Given the description of an element on the screen output the (x, y) to click on. 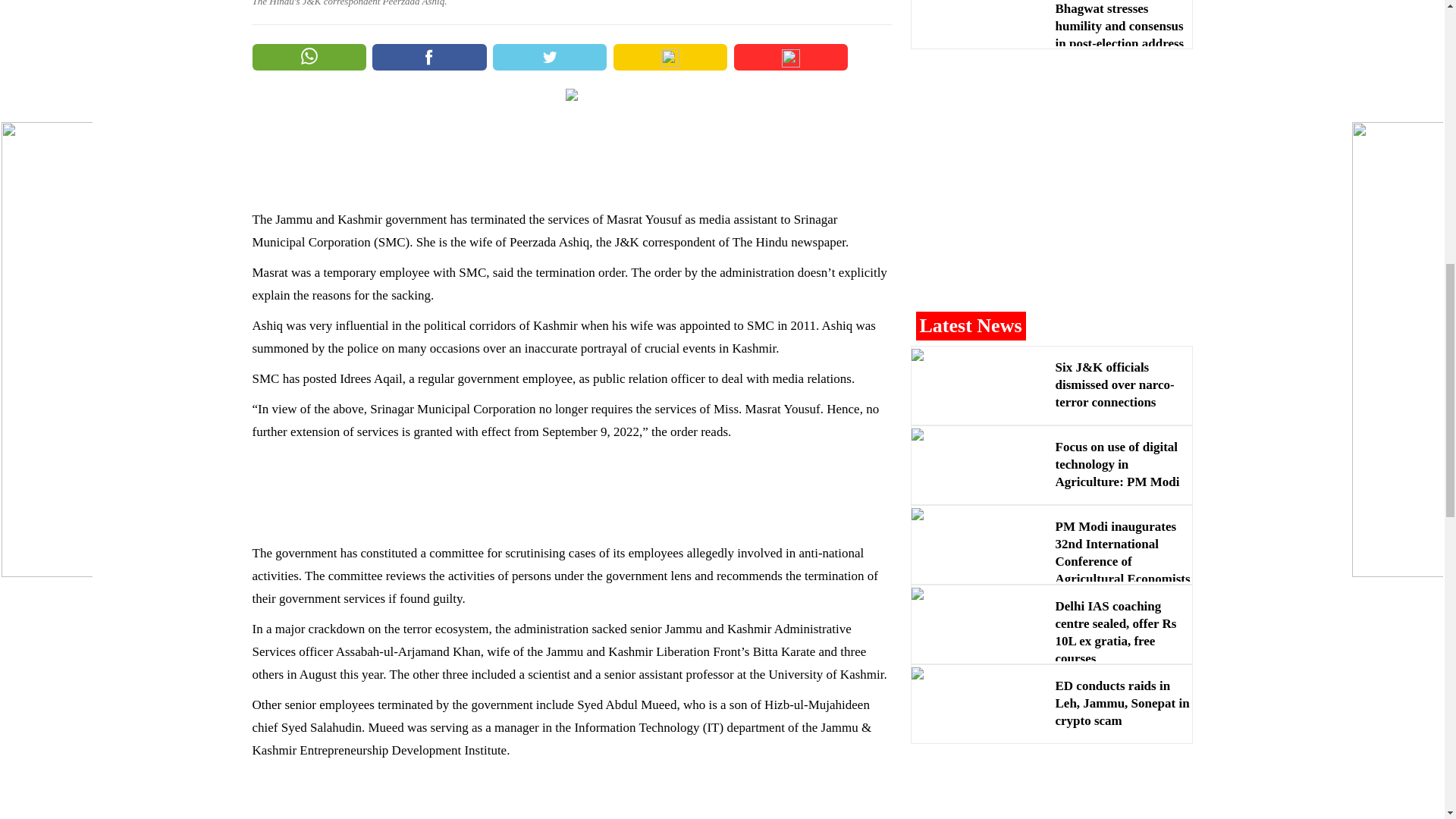
Share on koo-share (790, 57)
Share on WhatsApp (308, 57)
Share on koo-share (669, 57)
Share on Twitter (550, 57)
Share on Facebook (429, 57)
